Given the description of an element on the screen output the (x, y) to click on. 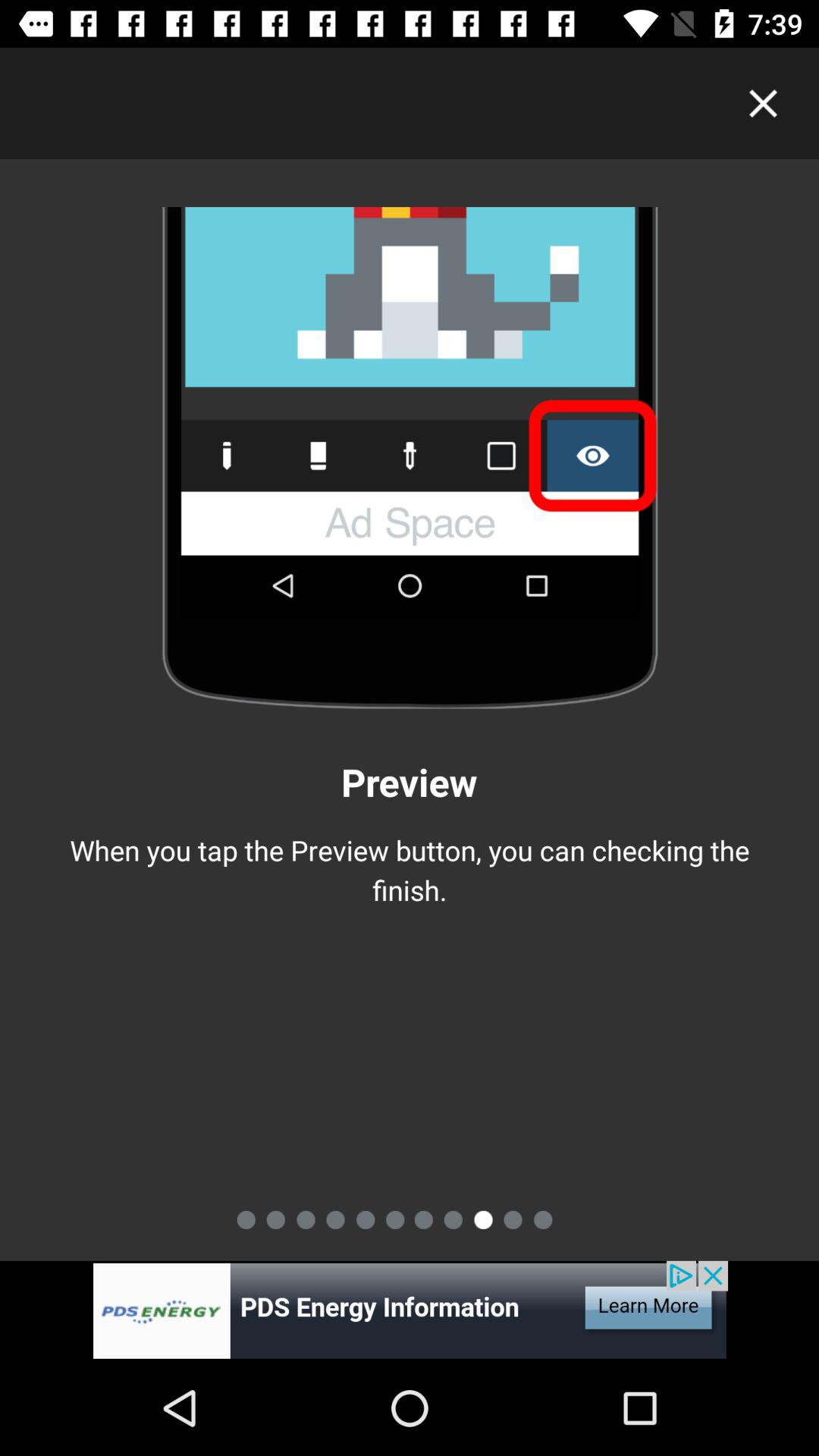
close (763, 103)
